Given the description of an element on the screen output the (x, y) to click on. 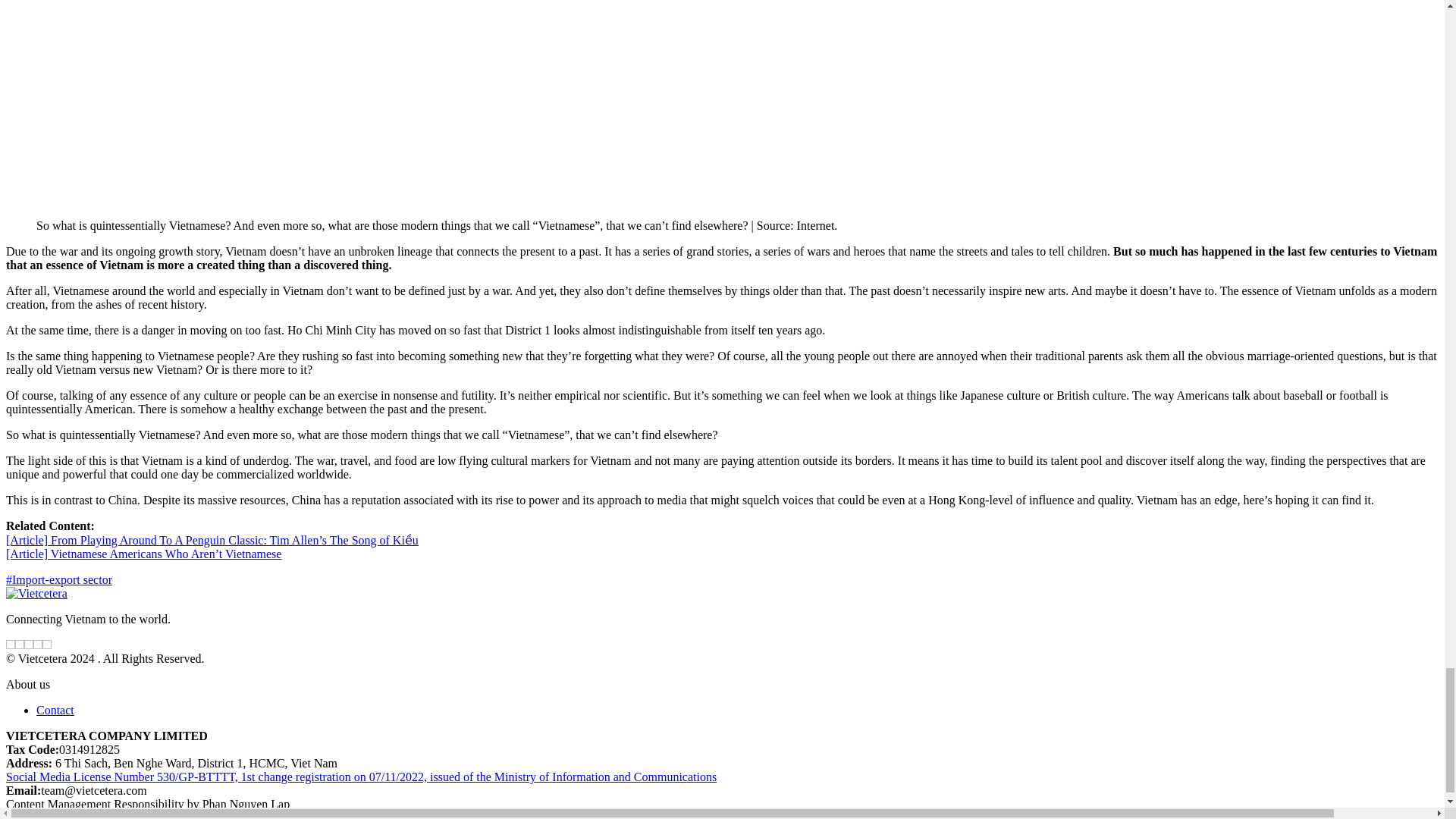
Contact (55, 709)
Contact (55, 709)
Import-export sector (58, 579)
